Given the description of an element on the screen output the (x, y) to click on. 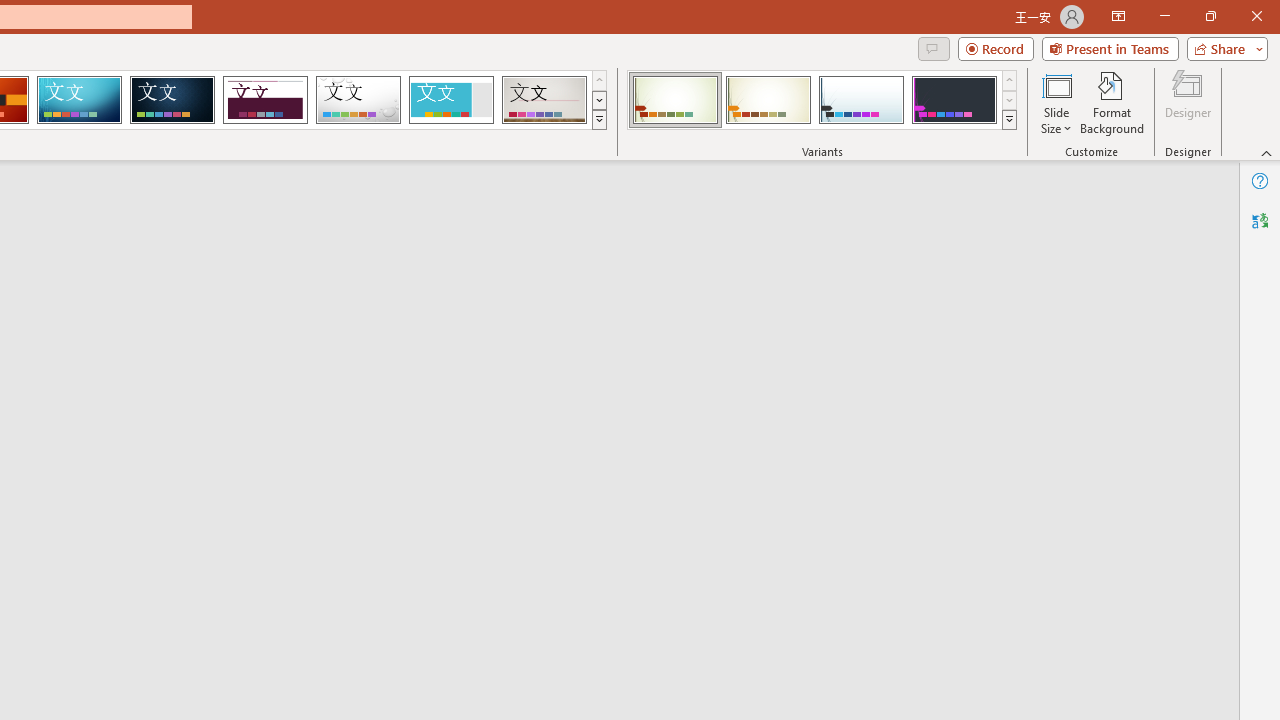
Wisp Variant 4 (953, 100)
Wisp Variant 3 (861, 100)
Droplet (358, 100)
Wisp Variant 2 (768, 100)
Circuit (79, 100)
Designer (1188, 102)
Row Down (1009, 100)
Variants (1009, 120)
Format Background (1111, 102)
Damask (171, 100)
